Given the description of an element on the screen output the (x, y) to click on. 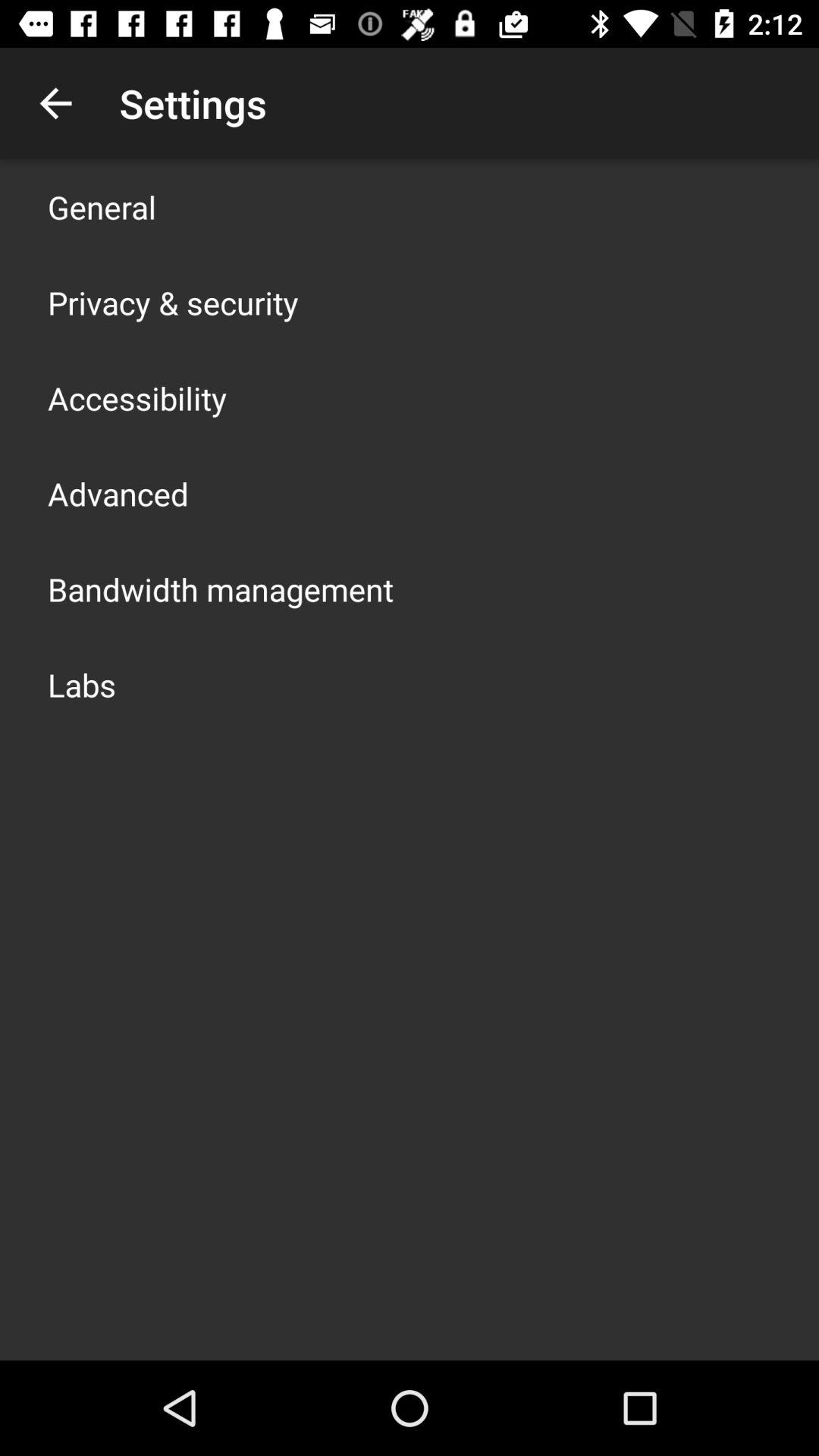
swipe until the general (101, 206)
